Given the description of an element on the screen output the (x, y) to click on. 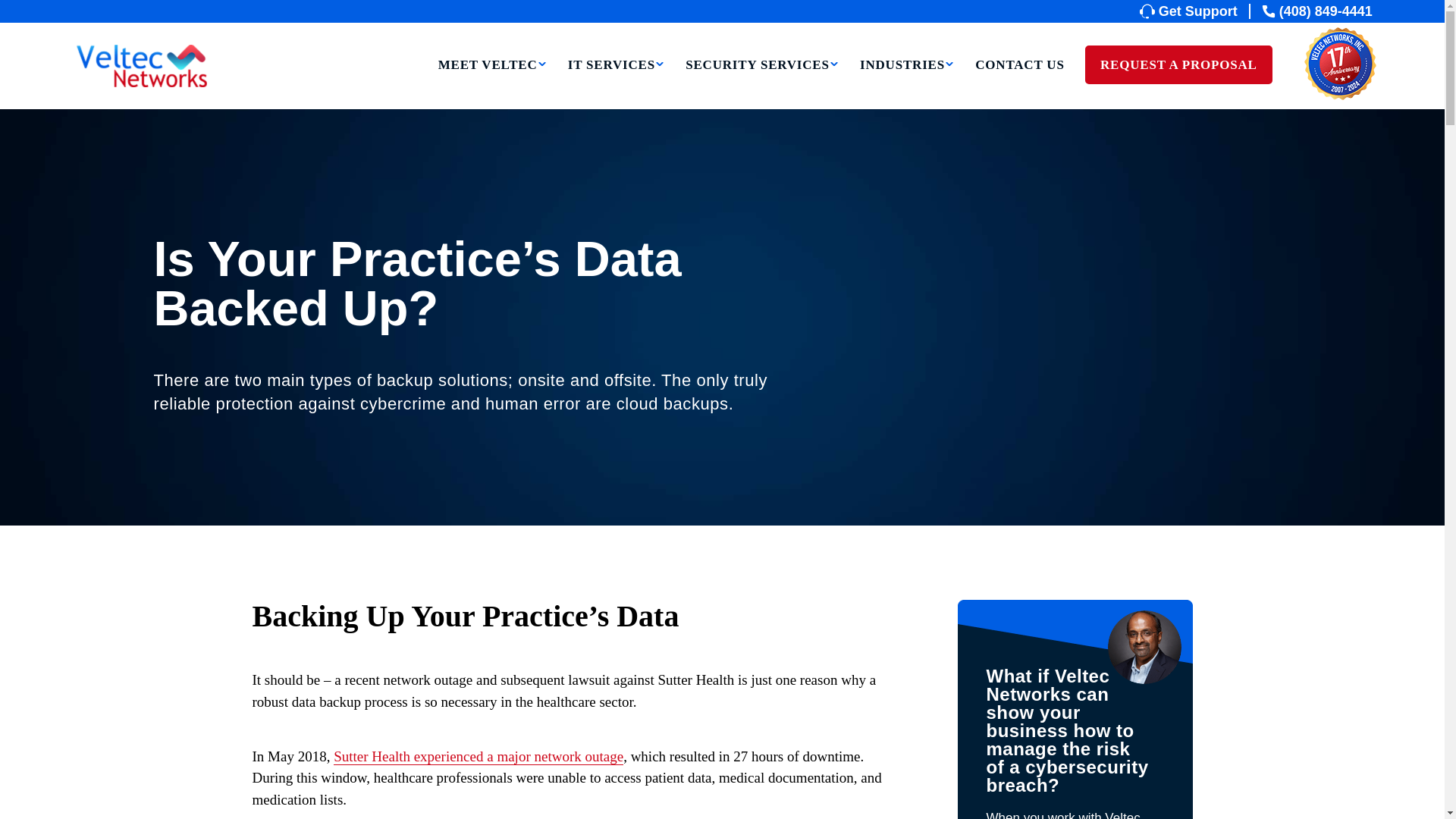
REQUEST A PROPOSAL (1178, 64)
MEET VELTEC (492, 84)
SECURITY SERVICES (762, 84)
CONTACT US (1019, 84)
IT SERVICES (616, 84)
Sutter Health experienced a major network outage (478, 756)
INDUSTRIES (907, 84)
Get Support (1195, 11)
